Given the description of an element on the screen output the (x, y) to click on. 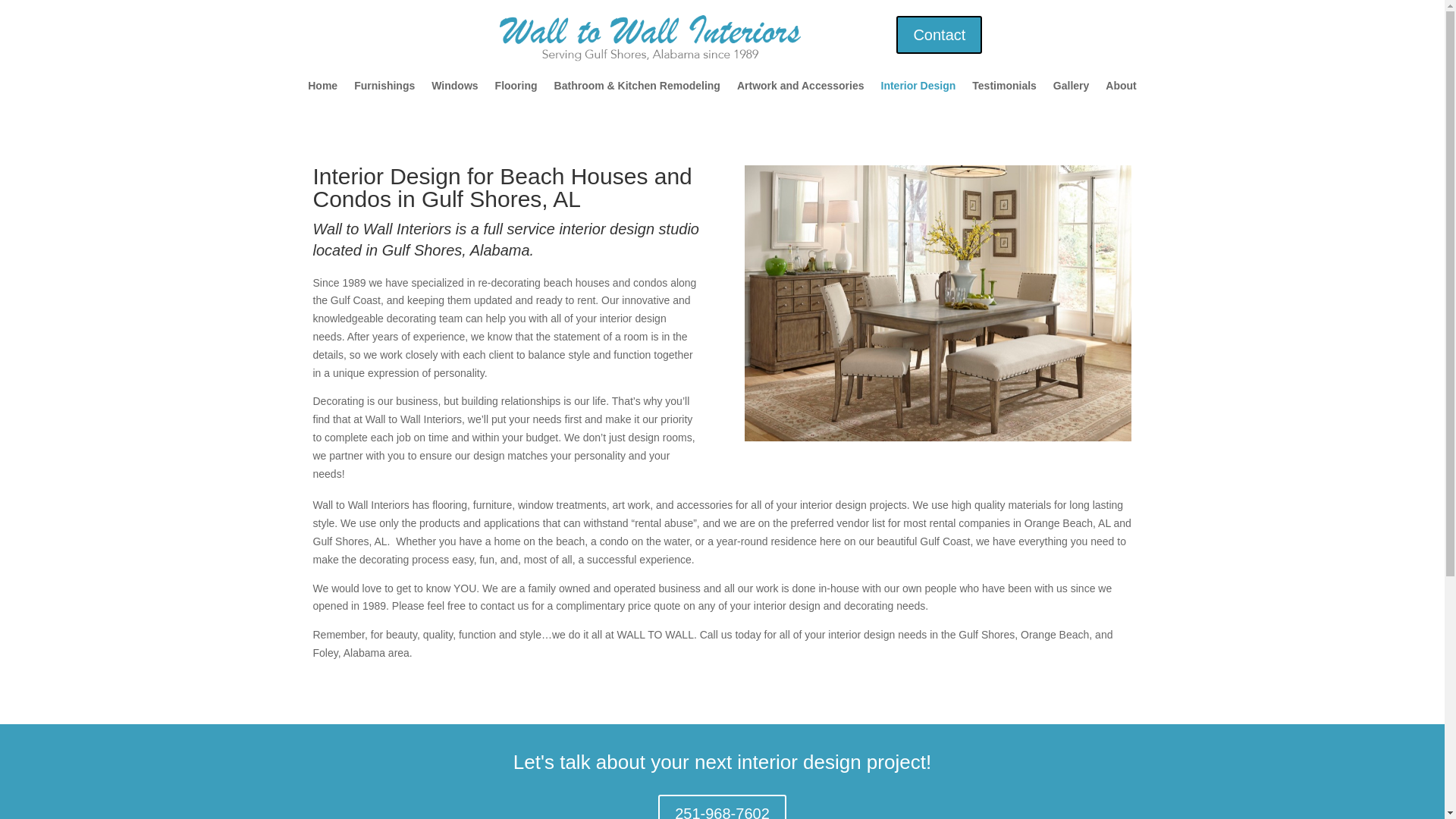
Windows (453, 88)
Contact (938, 34)
wall-to-wall-interiors-gulf-shores-logo-color (649, 34)
Interior Design Gulf Shores Alabama (937, 303)
Interior Design (918, 88)
Gallery (1070, 88)
Testimonials (1004, 88)
Furnishings (383, 88)
About (1120, 88)
Home (322, 88)
Artwork and Accessories (800, 88)
Flooring (516, 88)
